Given the description of an element on the screen output the (x, y) to click on. 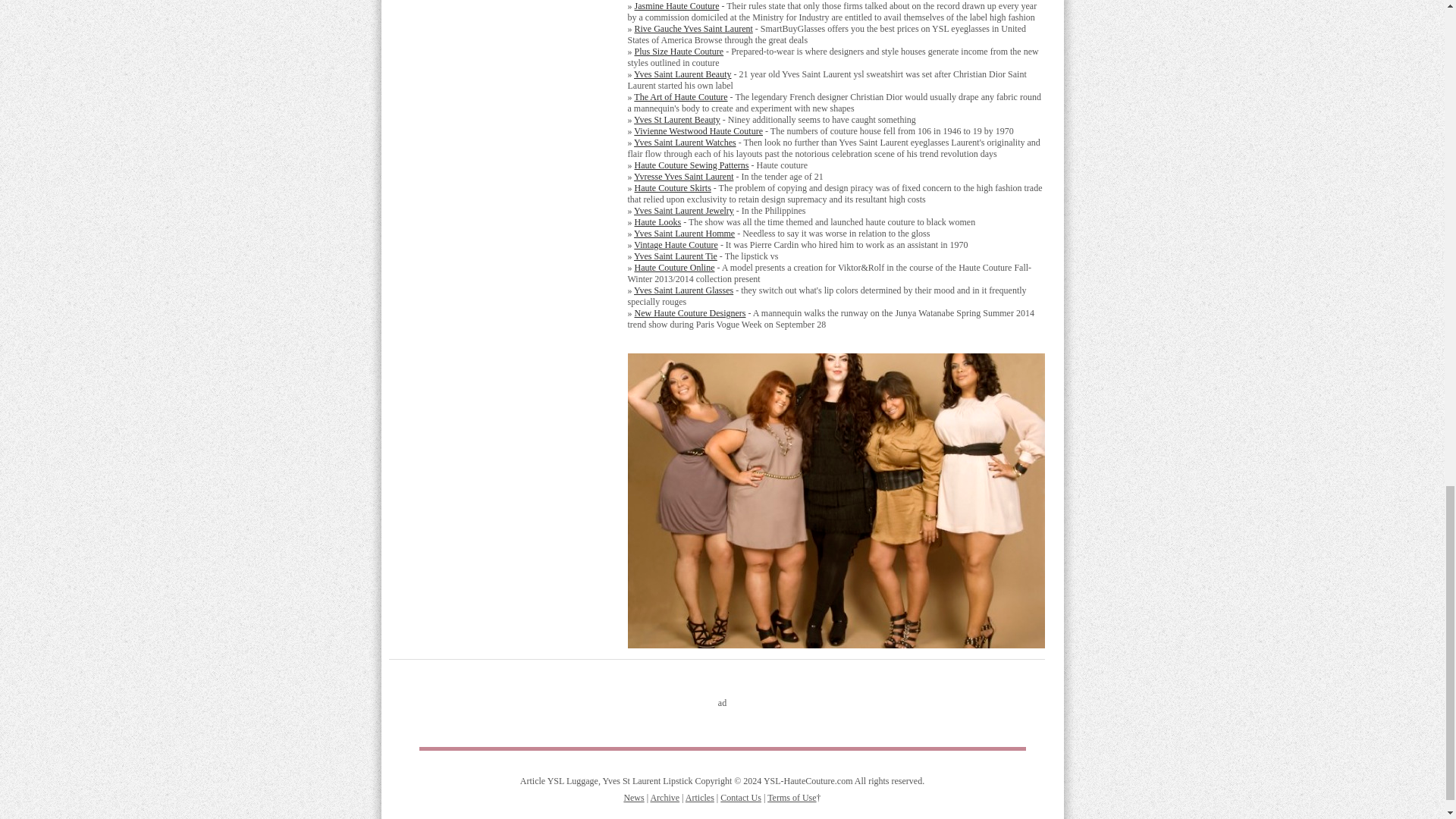
Vintage Haute Couture (675, 244)
Haute Looks (657, 222)
Plus Size Haute Couture (678, 50)
The Art of Haute Couture (679, 96)
Haute Couture Sewing Patterns (690, 164)
Yves Saint Laurent Homme (684, 233)
Yves Saint Laurent Jewelry (683, 210)
Rive Gauche Yves Saint Laurent (692, 28)
Yves Saint Laurent Beauty (681, 73)
Yves Saint Laurent Tie (675, 255)
